Given the description of an element on the screen output the (x, y) to click on. 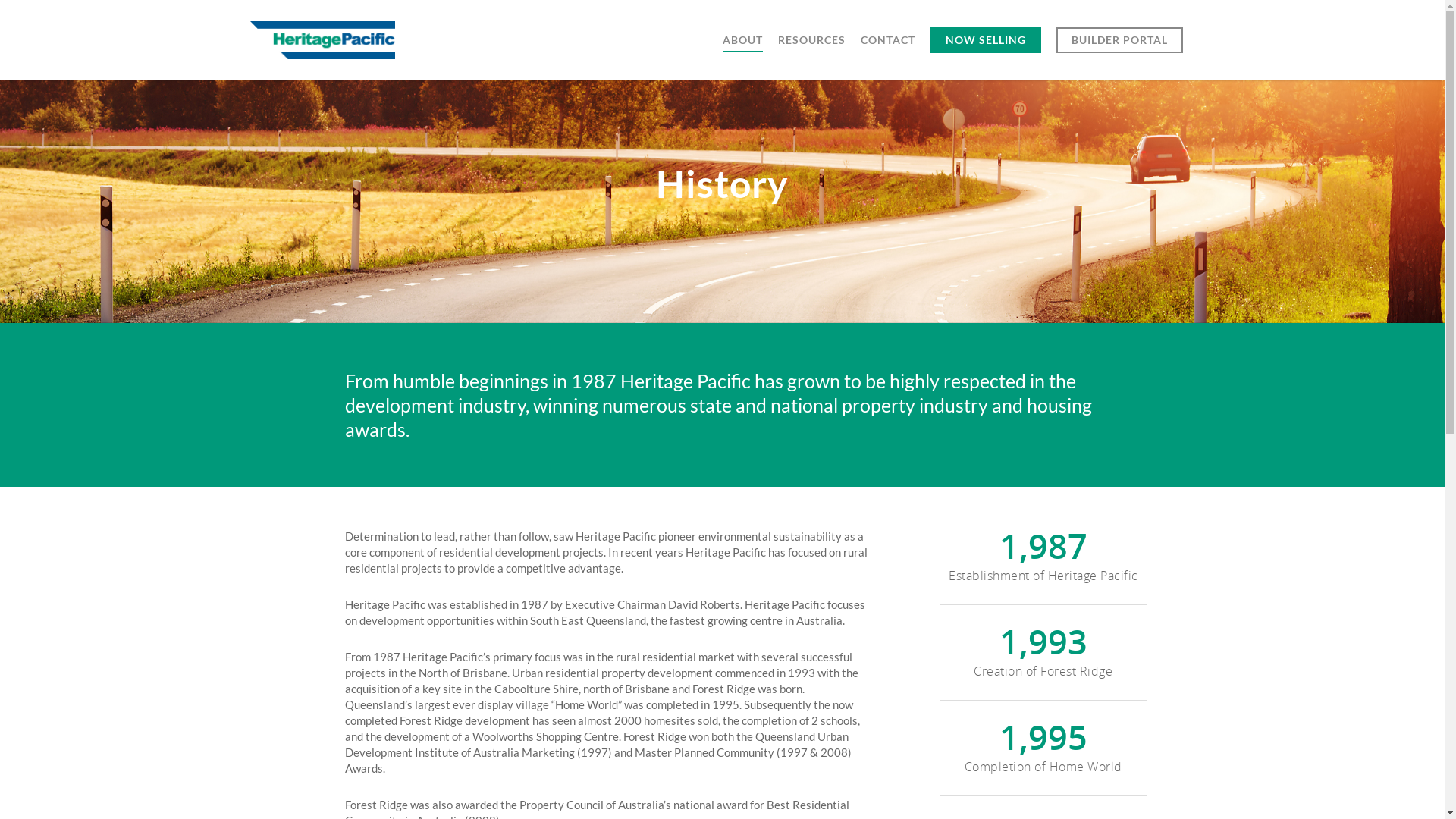
ABOUT Element type: text (742, 50)
NOW SELLING Element type: text (985, 50)
BUILDER PORTAL Element type: text (1119, 50)
CONTACT Element type: text (887, 50)
RESOURCES Element type: text (811, 50)
